Given the description of an element on the screen output the (x, y) to click on. 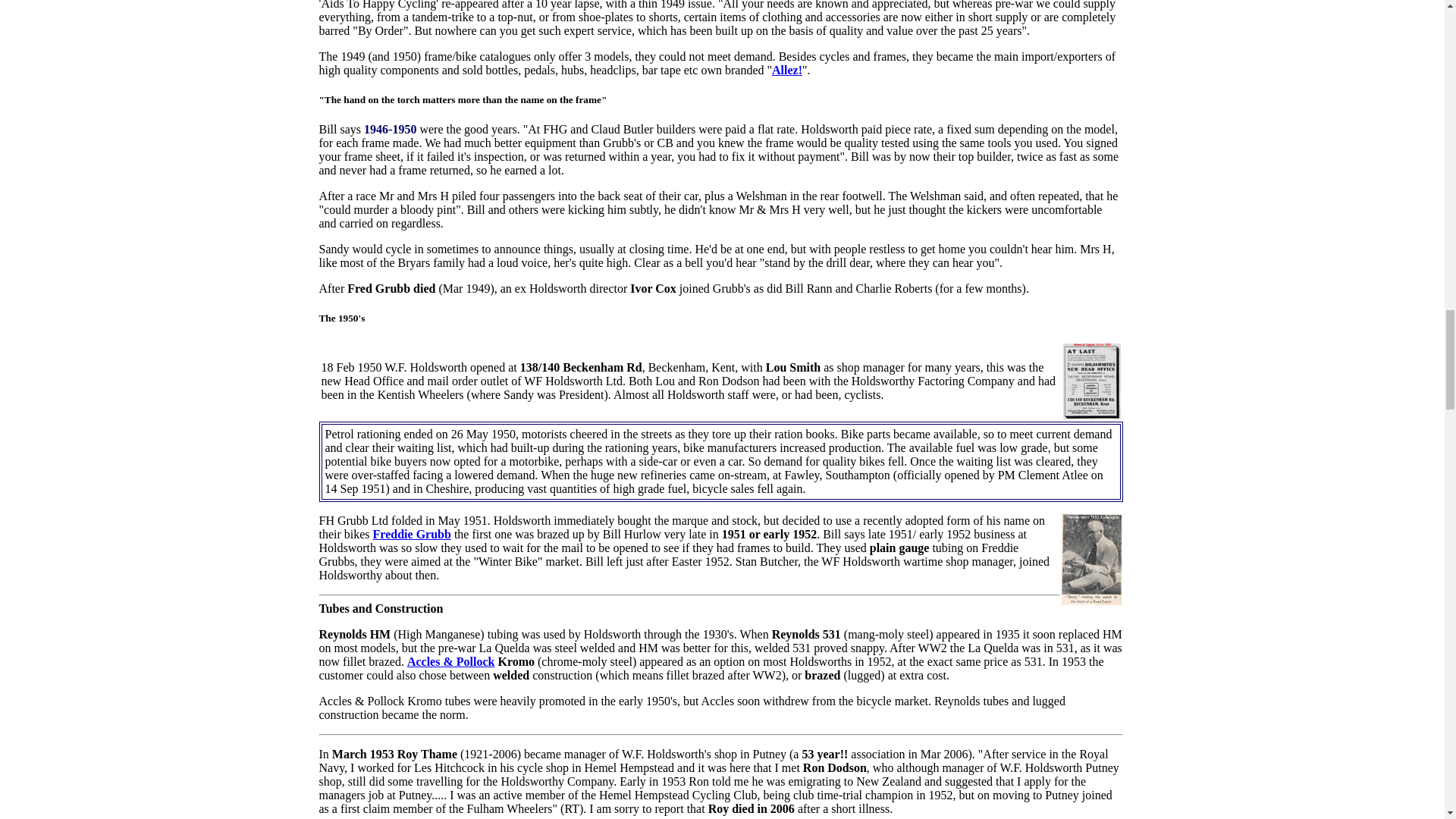
Allez! (786, 69)
Freddie Grubb (411, 533)
